Given the description of an element on the screen output the (x, y) to click on. 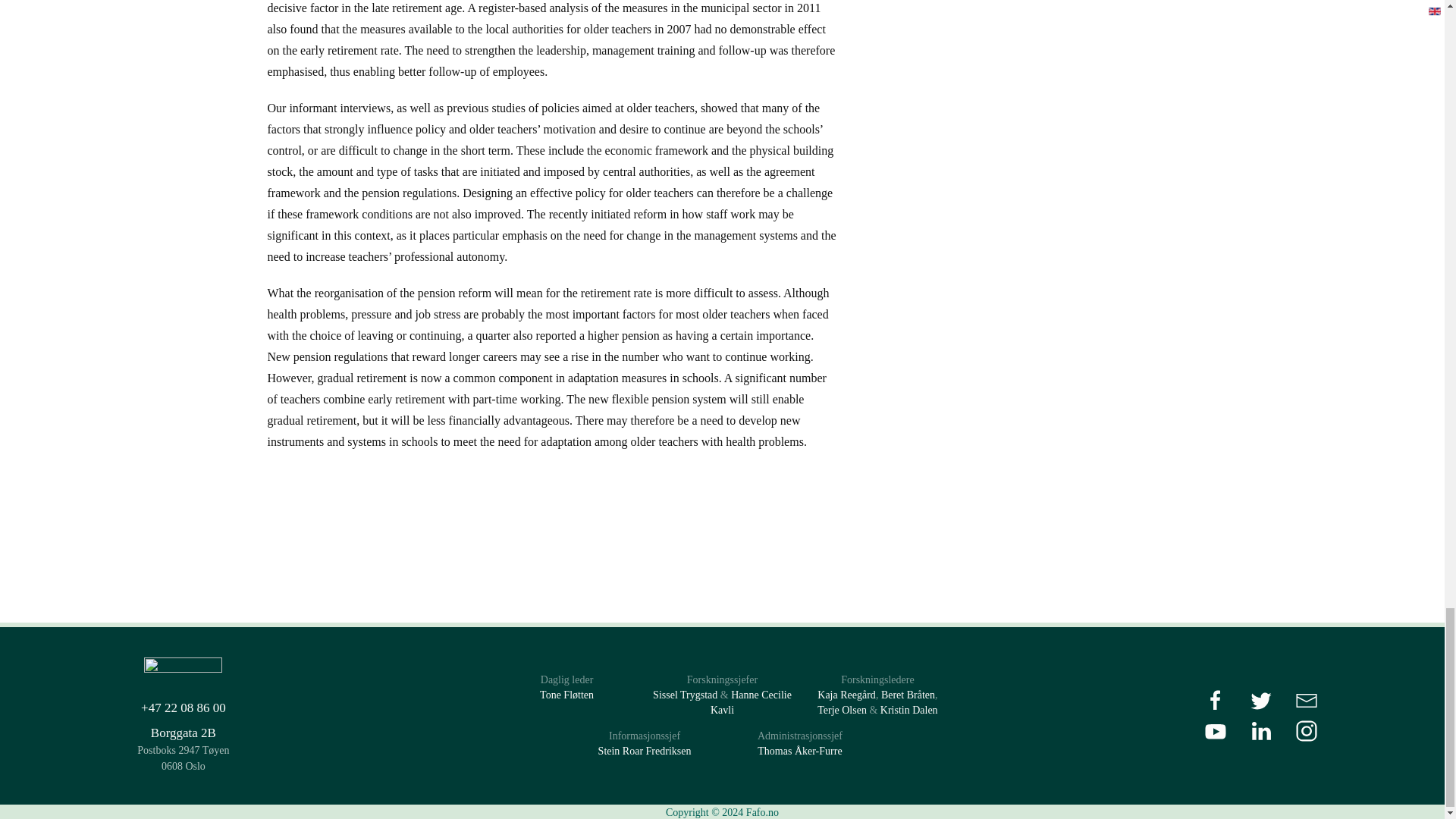
Stein Roar Fredriksen (644, 750)
Kristin Dalen (908, 709)
Borggata 2B (183, 732)
Sissel Trygstad (684, 695)
Hanne Cecilie Kavli (751, 702)
Terje Olsen (841, 709)
